Given the description of an element on the screen output the (x, y) to click on. 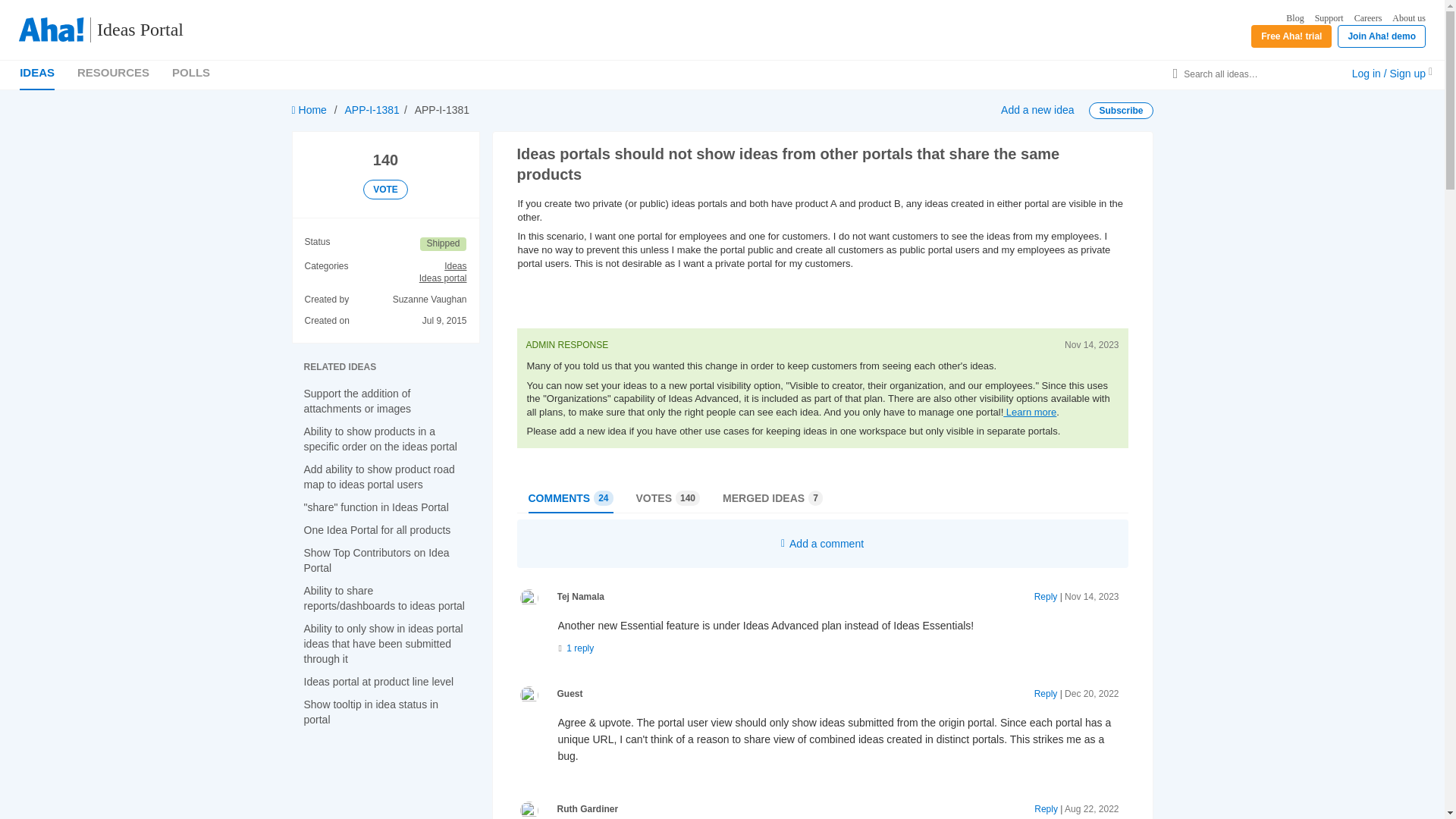
Support the addition of attachments or images (356, 400)
Ideas Portal (133, 30)
POLLS (190, 72)
Support (1328, 18)
Show tooltip in idea status in portal (370, 711)
Add ability to show product road map to ideas portal users (378, 476)
Shipped (442, 243)
RESOURCES (113, 72)
